Given the description of an element on the screen output the (x, y) to click on. 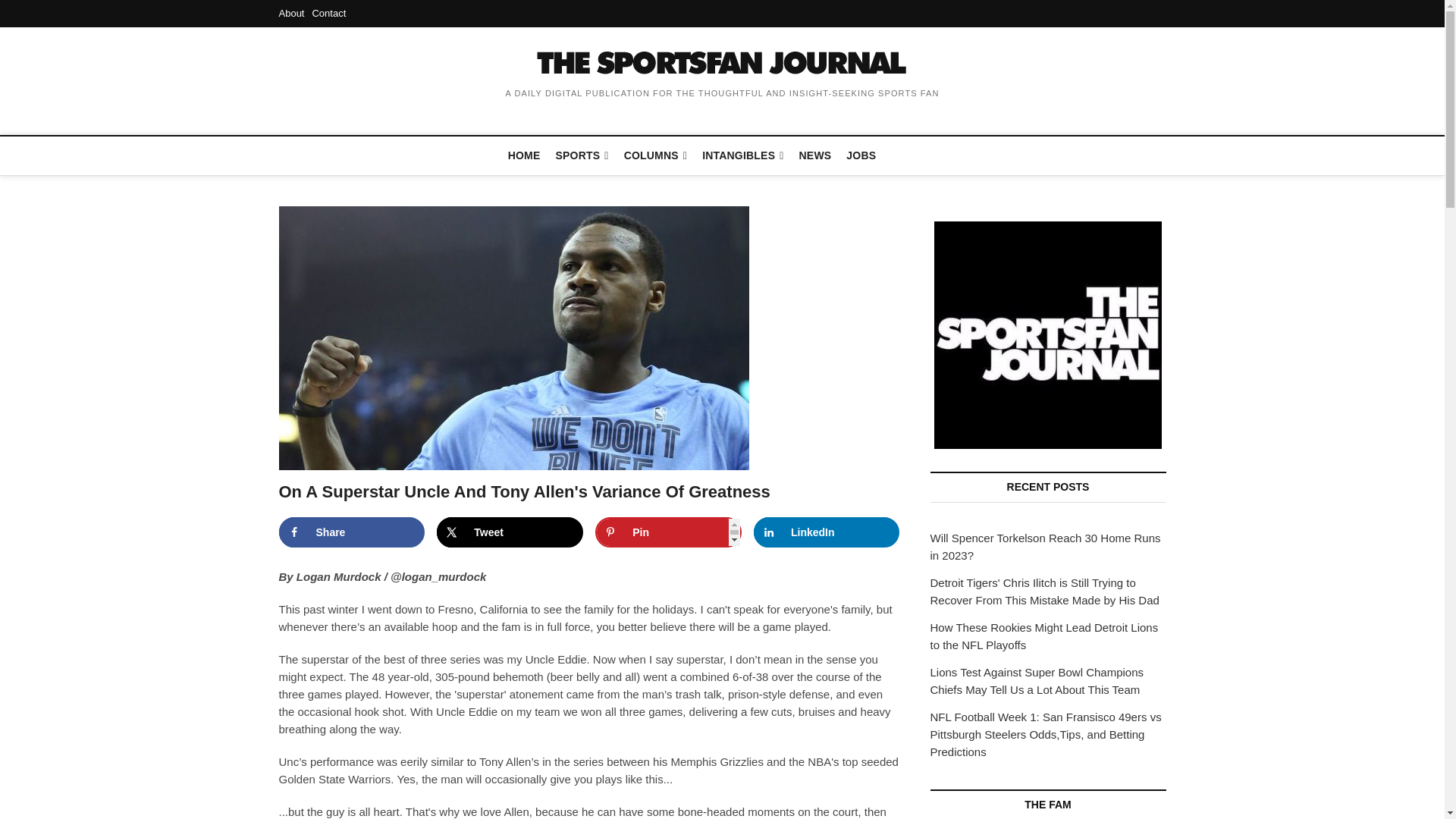
Share on Facebook (352, 531)
Save to Pinterest (668, 531)
Share (352, 531)
About (291, 12)
Tweet (509, 531)
Share on X (509, 531)
SPORTS (581, 155)
Contact (328, 12)
HOME (524, 155)
JOBS (860, 155)
INTANGIBLES (742, 155)
COLUMNS (655, 155)
Share on LinkedIn (826, 531)
NEWS (816, 155)
